Given the description of an element on the screen output the (x, y) to click on. 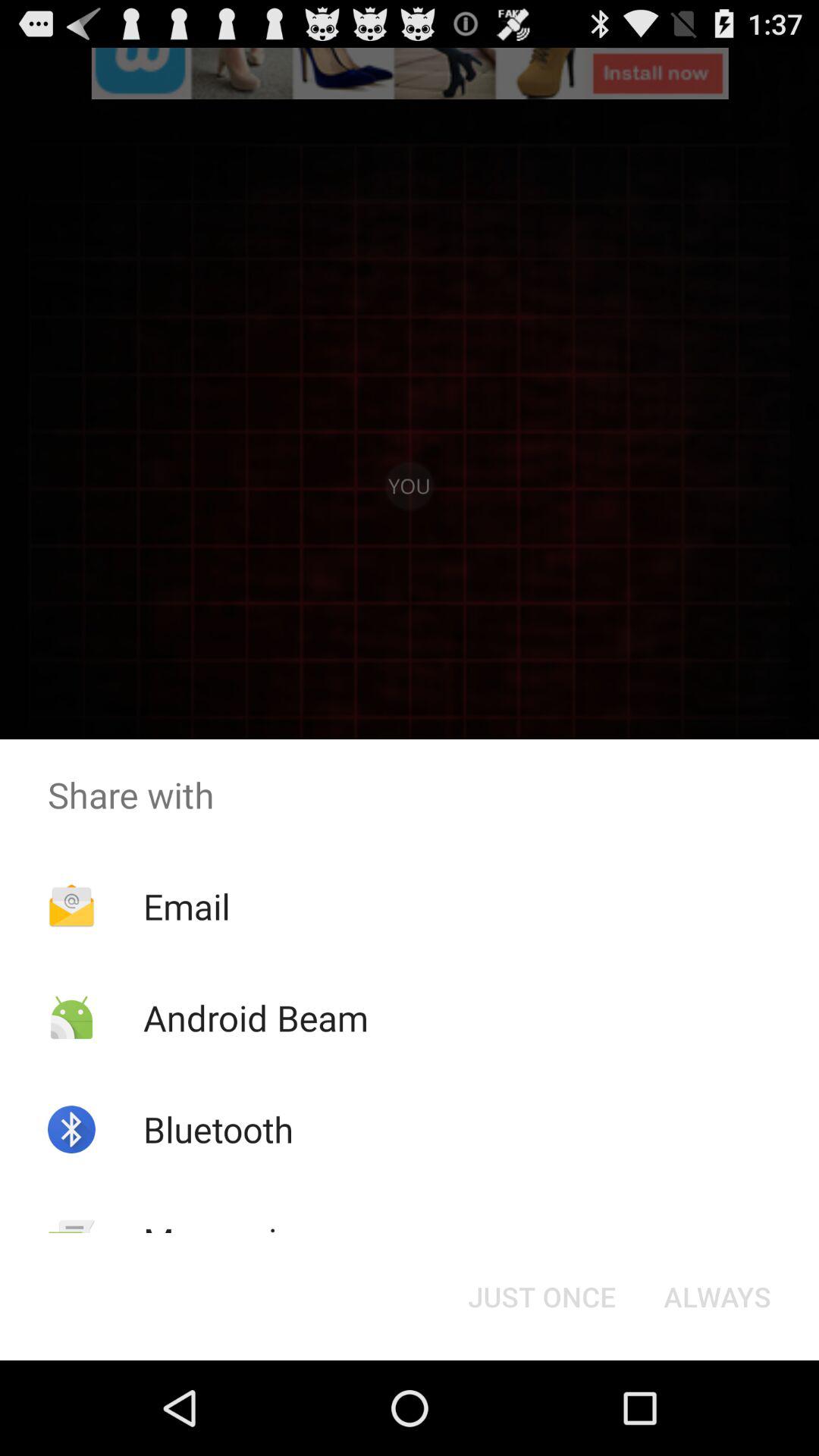
launch the button to the right of just once item (717, 1296)
